Given the description of an element on the screen output the (x, y) to click on. 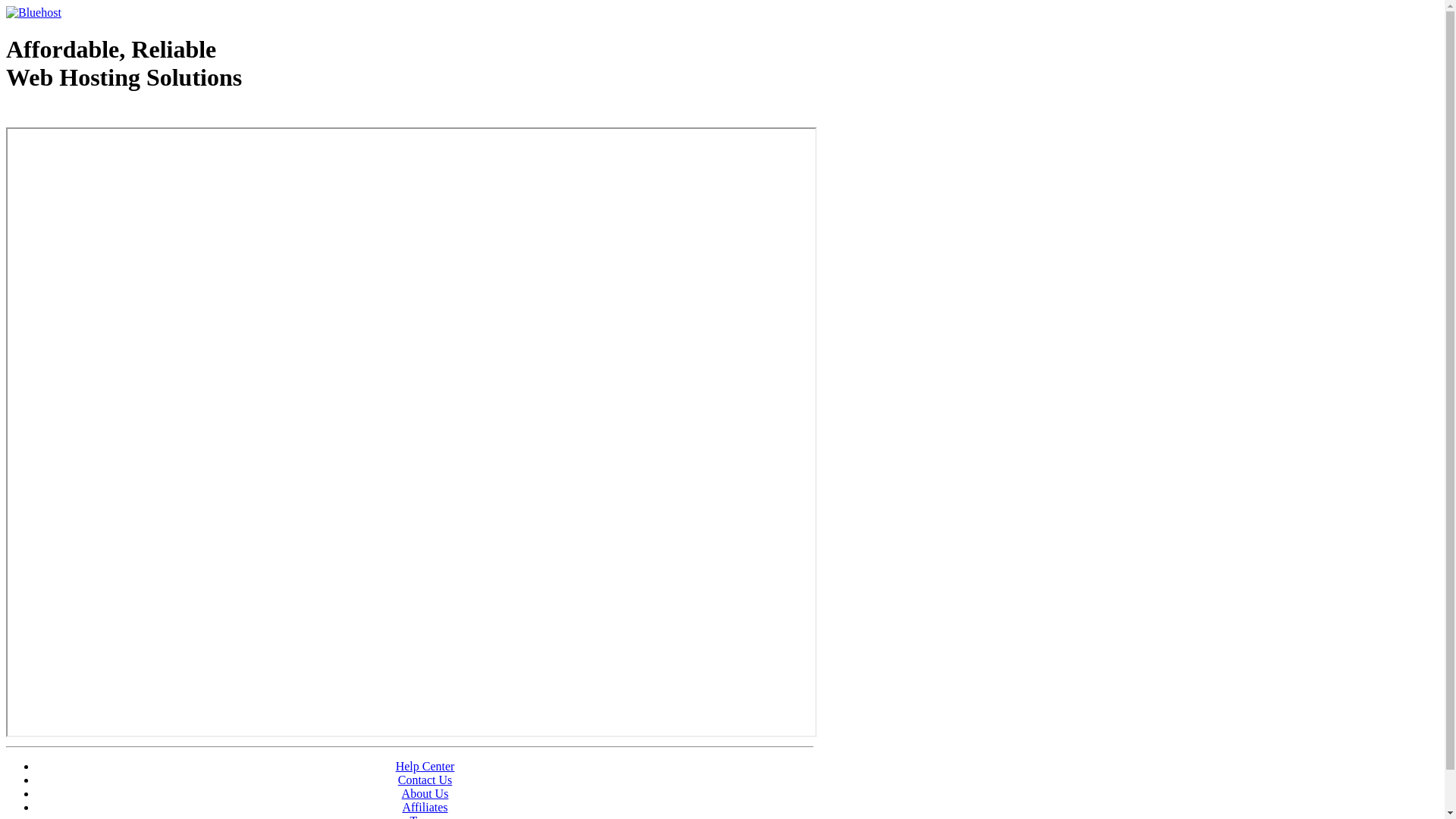
About Us Element type: text (424, 793)
Web Hosting - courtesy of www.bluehost.com Element type: text (94, 115)
Contact Us Element type: text (425, 779)
Affiliates Element type: text (424, 806)
Help Center Element type: text (425, 765)
